Given the description of an element on the screen output the (x, y) to click on. 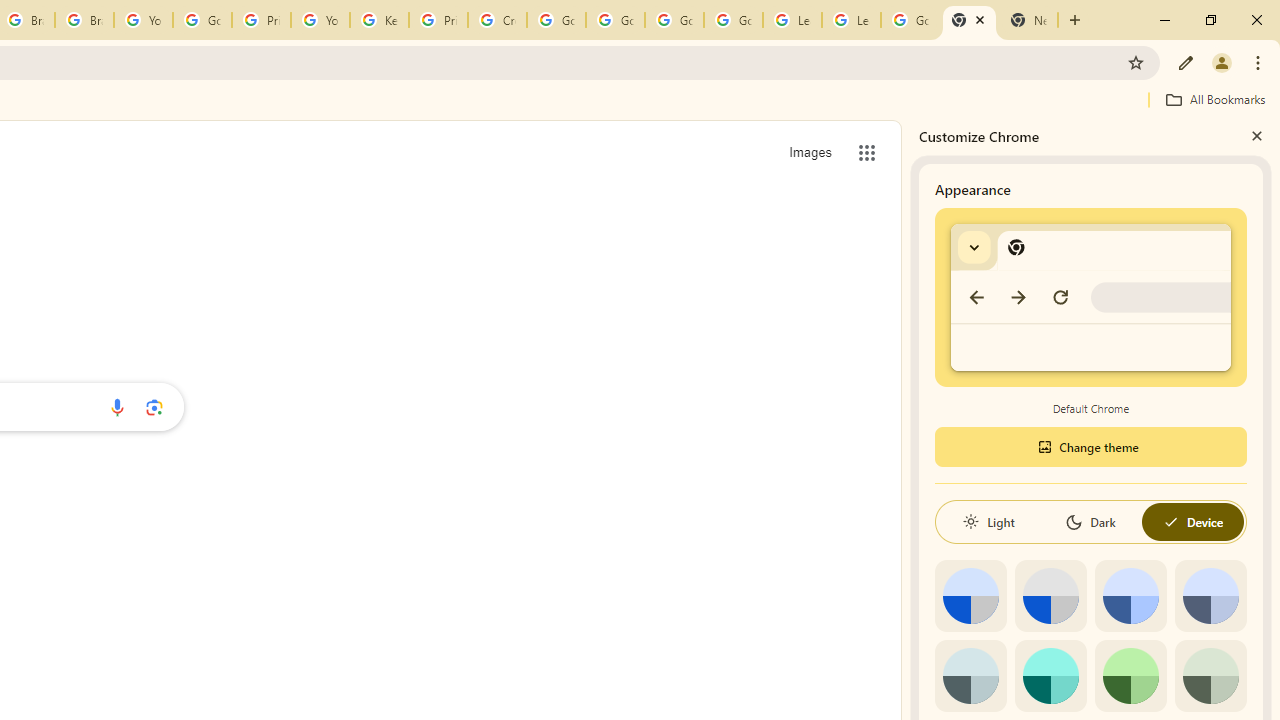
Google Account Help (556, 20)
Aqua (1050, 676)
New Tab (969, 20)
Default color (970, 596)
Light (988, 521)
Viridian (1210, 676)
Device (1192, 521)
YouTube (319, 20)
